Given the description of an element on the screen output the (x, y) to click on. 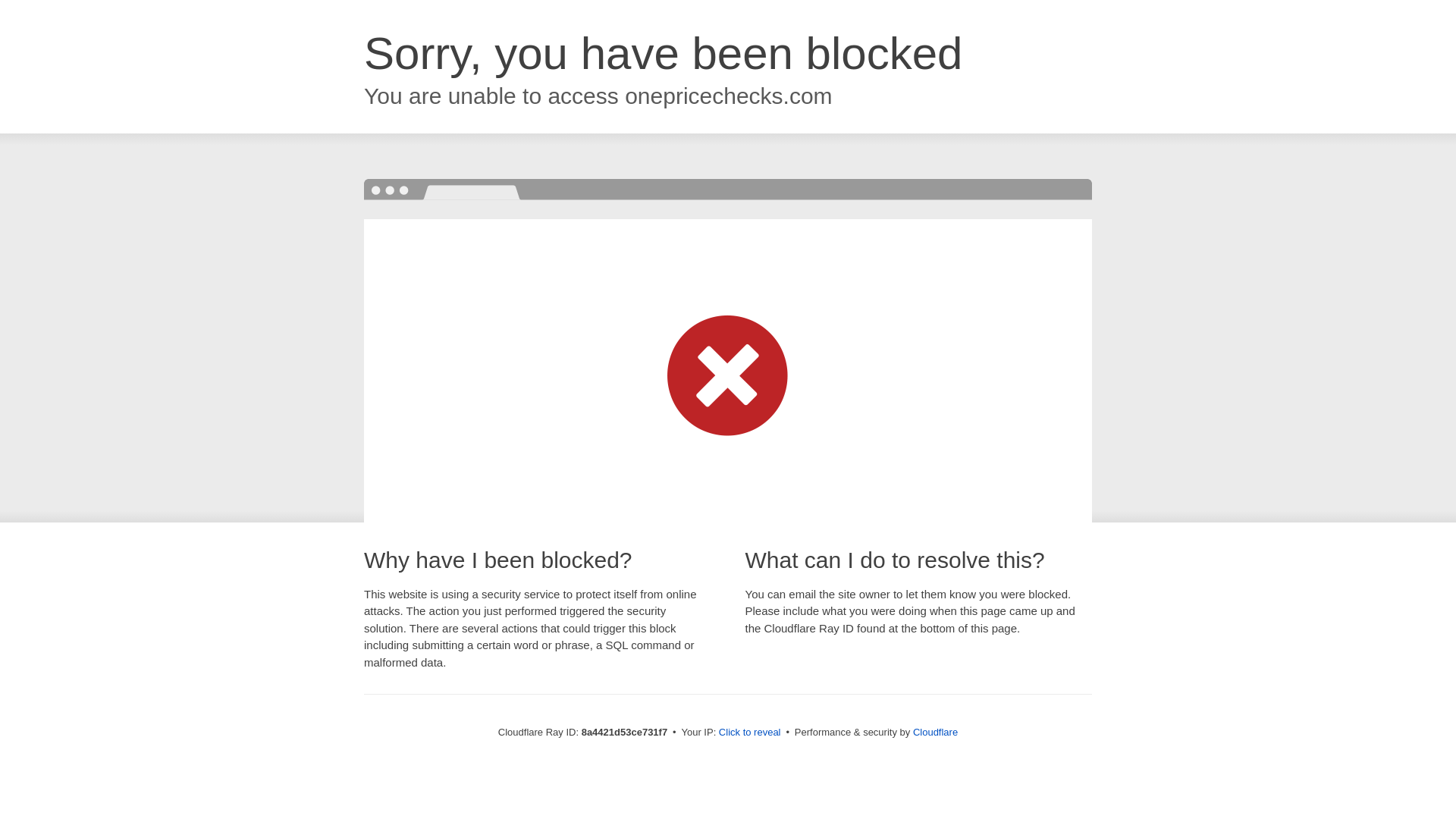
Click to reveal (749, 732)
Cloudflare (935, 731)
